Given the description of an element on the screen output the (x, y) to click on. 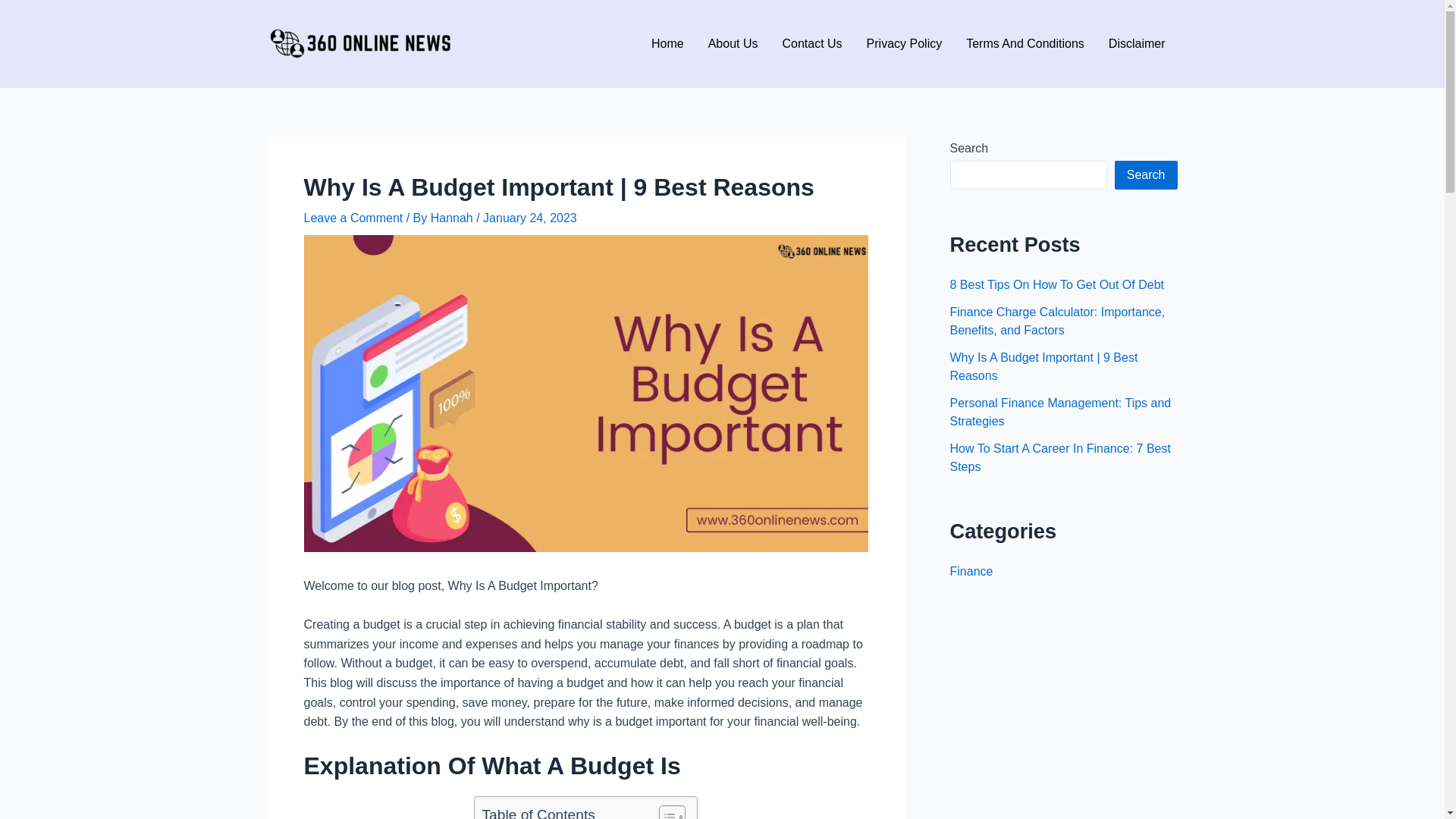
Hannah Element type: text (453, 217)
How To Start A Career In Finance: 7 Best Steps Element type: text (1059, 457)
Disclaimer Element type: text (1136, 43)
Privacy Policy Element type: text (904, 43)
Leave a Comment Element type: text (352, 217)
Search Element type: text (1145, 174)
8 Best Tips On How To Get Out Of Debt Element type: text (1056, 284)
Why Is A Budget Important | 9 Best Reasons Element type: text (1043, 366)
Finance Element type: text (970, 570)
Finance Charge Calculator: Importance, Benefits, and Factors Element type: text (1056, 320)
Contact Us Element type: text (811, 43)
About Us Element type: text (733, 43)
Home Element type: text (667, 43)
Personal Finance Management: Tips and Strategies Element type: text (1059, 411)
Terms And Conditions Element type: text (1024, 43)
